Given the description of an element on the screen output the (x, y) to click on. 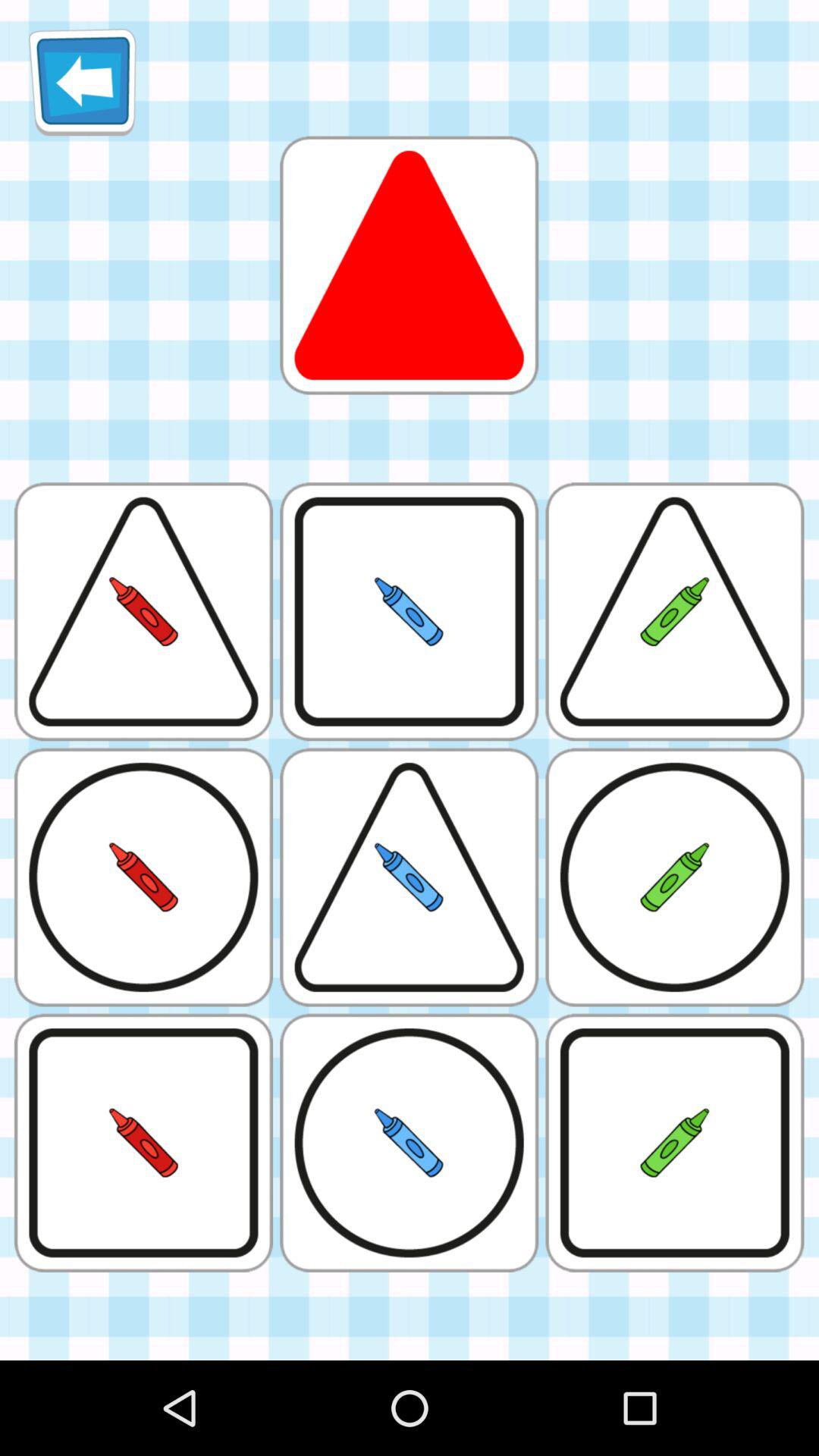
red triangle (409, 265)
